Given the description of an element on the screen output the (x, y) to click on. 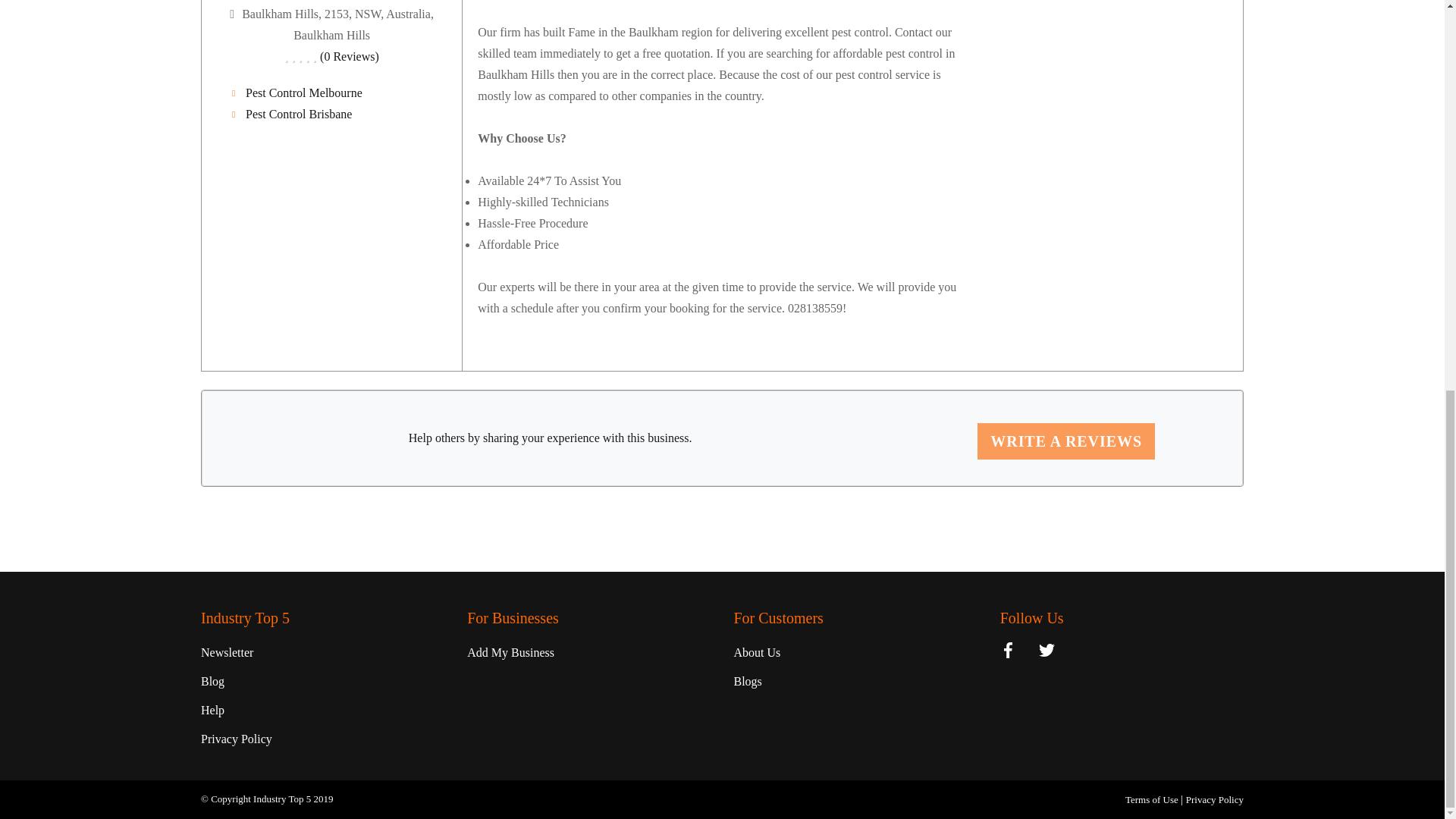
Pest Control Melbourne (330, 93)
WRITE A REVIEWS (1065, 441)
Pest Control Brisbane (330, 114)
